Given the description of an element on the screen output the (x, y) to click on. 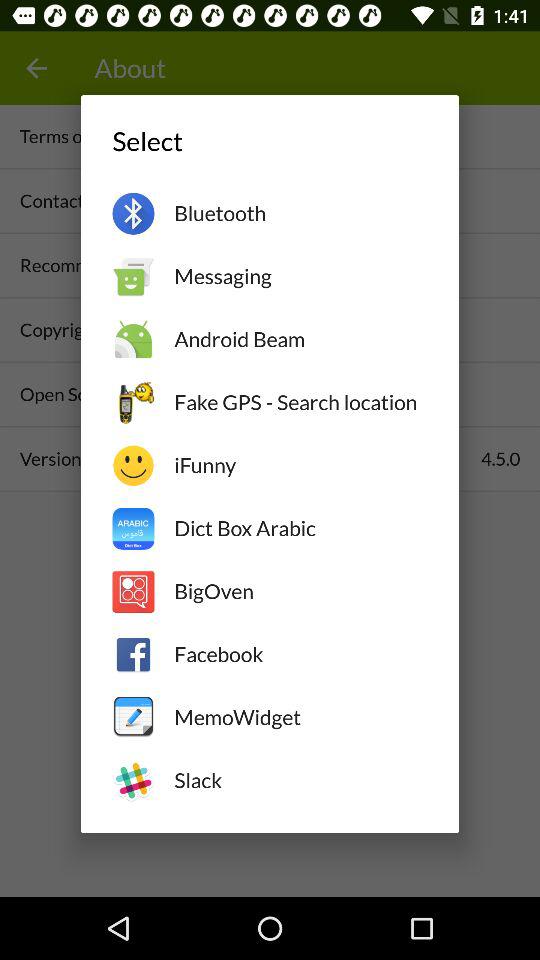
swipe until bigoven icon (300, 591)
